Given the description of an element on the screen output the (x, y) to click on. 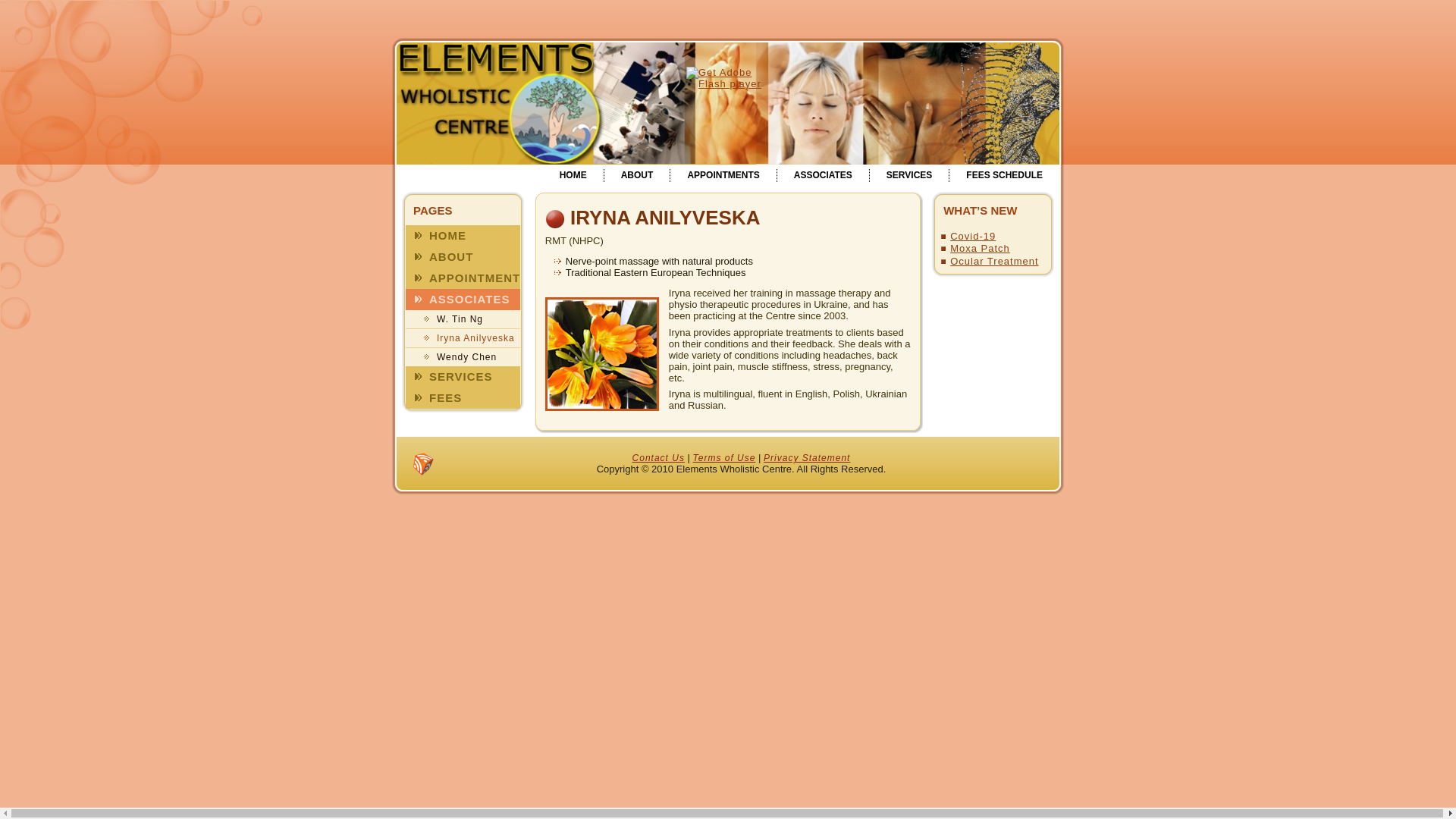
SERVICES Element type: text (462, 376)
Iryna Anilyveska Element type: text (462, 338)
IRYNA ANILYVESKA Element type: text (664, 217)
SERVICES Element type: text (908, 175)
FEES SCHEDULE Element type: text (462, 397)
HOME Element type: text (572, 175)
ABOUT Element type: text (637, 175)
Privacy Statement Element type: text (806, 457)
Wendy Chen Element type: text (462, 357)
ASSOCIATES Element type: text (823, 175)
FEES SCHEDULE Element type: text (1004, 175)
ASSOCIATES Element type: text (462, 299)
APPOINTMENTS Element type: text (462, 277)
Moxa Patch Element type: text (980, 248)
Ocular Treatment Element type: text (994, 260)
W. Tin Ng Element type: text (462, 319)
ABOUT Element type: text (462, 256)
HOME Element type: text (462, 235)
Terms of Use Element type: text (724, 457)
APPOINTMENTS Element type: text (722, 175)
RSS Element type: hover (422, 463)
Contact Us Element type: text (658, 457)
Covid-19 Element type: text (972, 235)
